Given the description of an element on the screen output the (x, y) to click on. 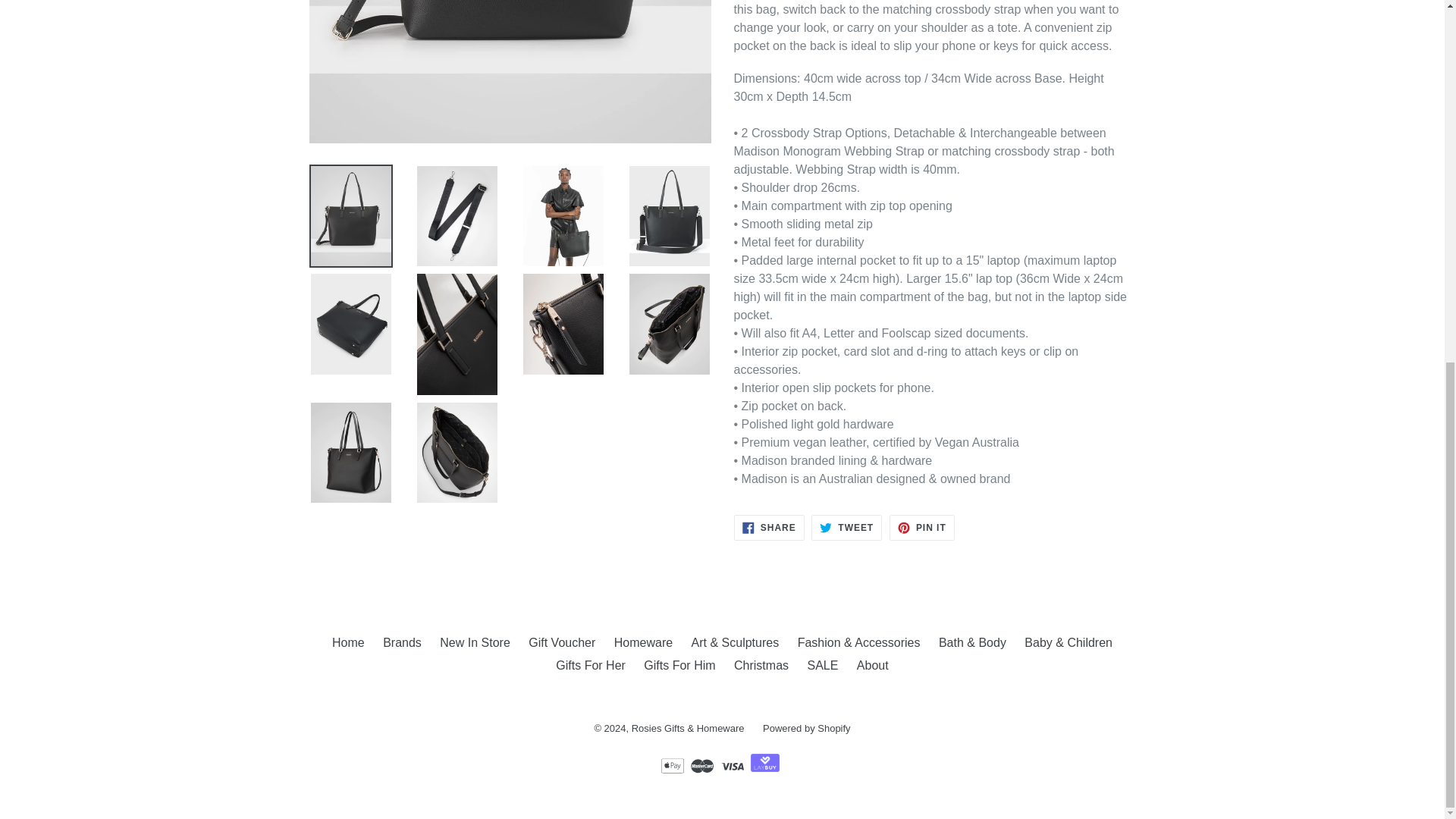
Pin on Pinterest (922, 527)
Tweet on Twitter (846, 527)
Share on Facebook (769, 527)
